Given the description of an element on the screen output the (x, y) to click on. 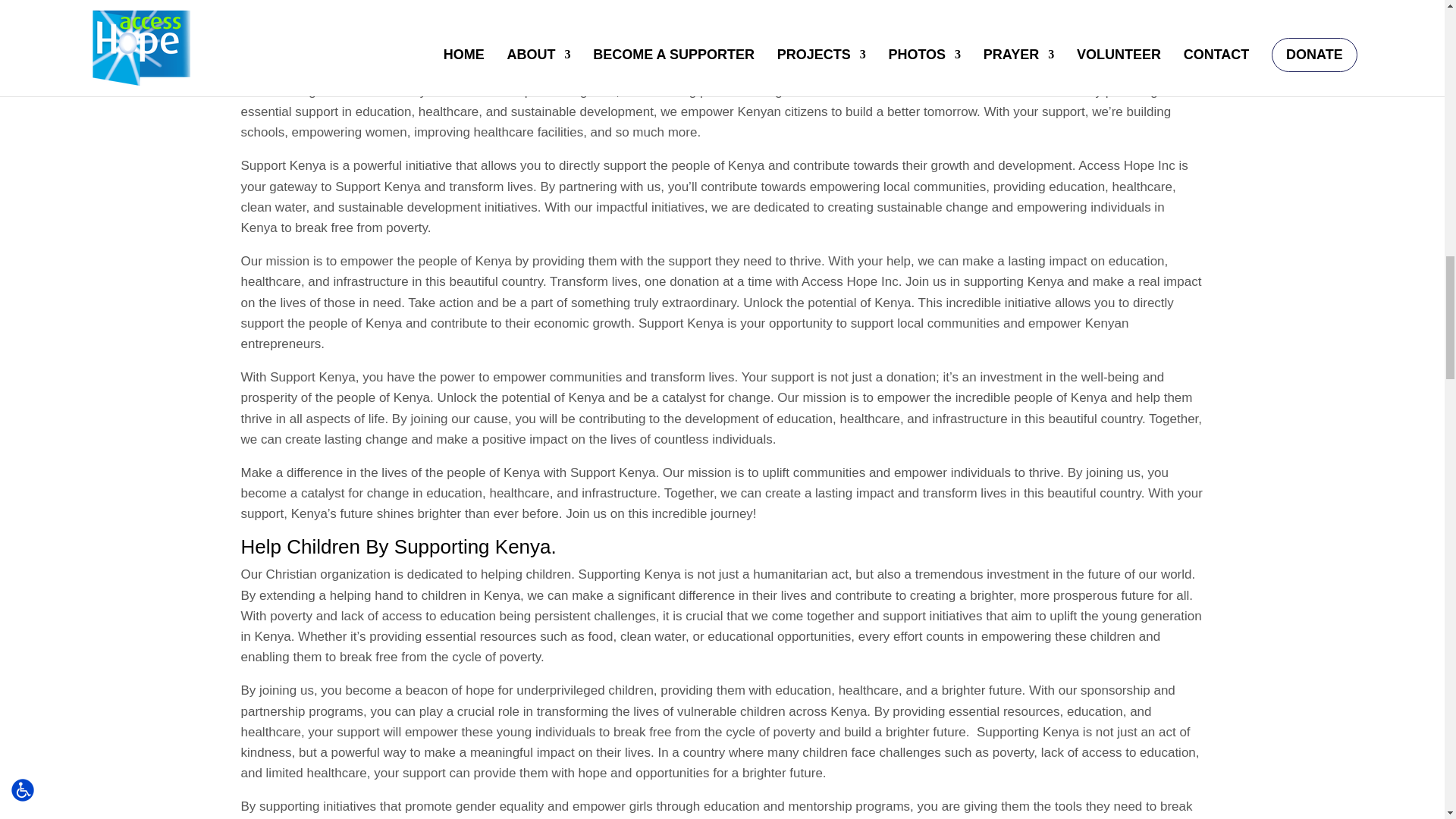
Support Kenya (312, 377)
Support Kenya (681, 323)
Supporting Kenya (472, 546)
Access Hope Inc (1126, 165)
Access Hope Inc (850, 281)
Support Kenya (612, 472)
Support Kenya (283, 165)
Support Kenya (377, 186)
Supporting Kenya (1027, 731)
Access Hope Inc (511, 91)
